Given the description of an element on the screen output the (x, y) to click on. 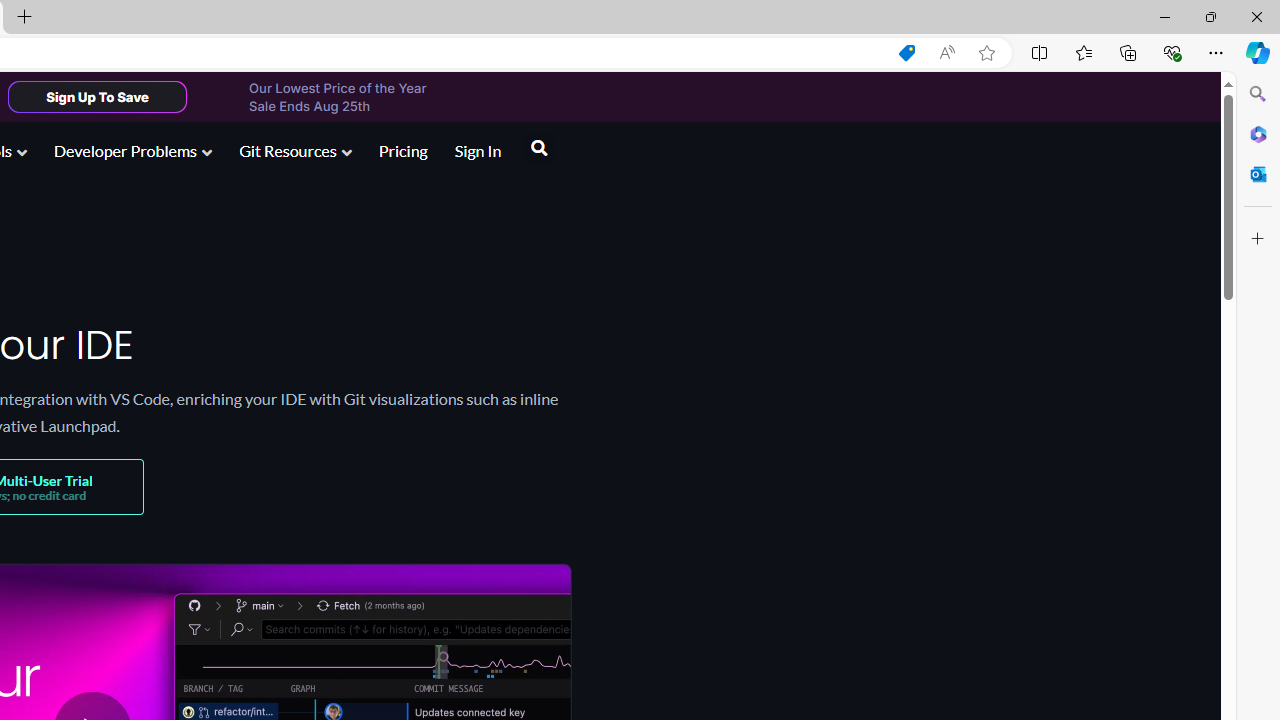
Sign Up To Save (97, 96)
Pricing (402, 150)
